Given the description of an element on the screen output the (x, y) to click on. 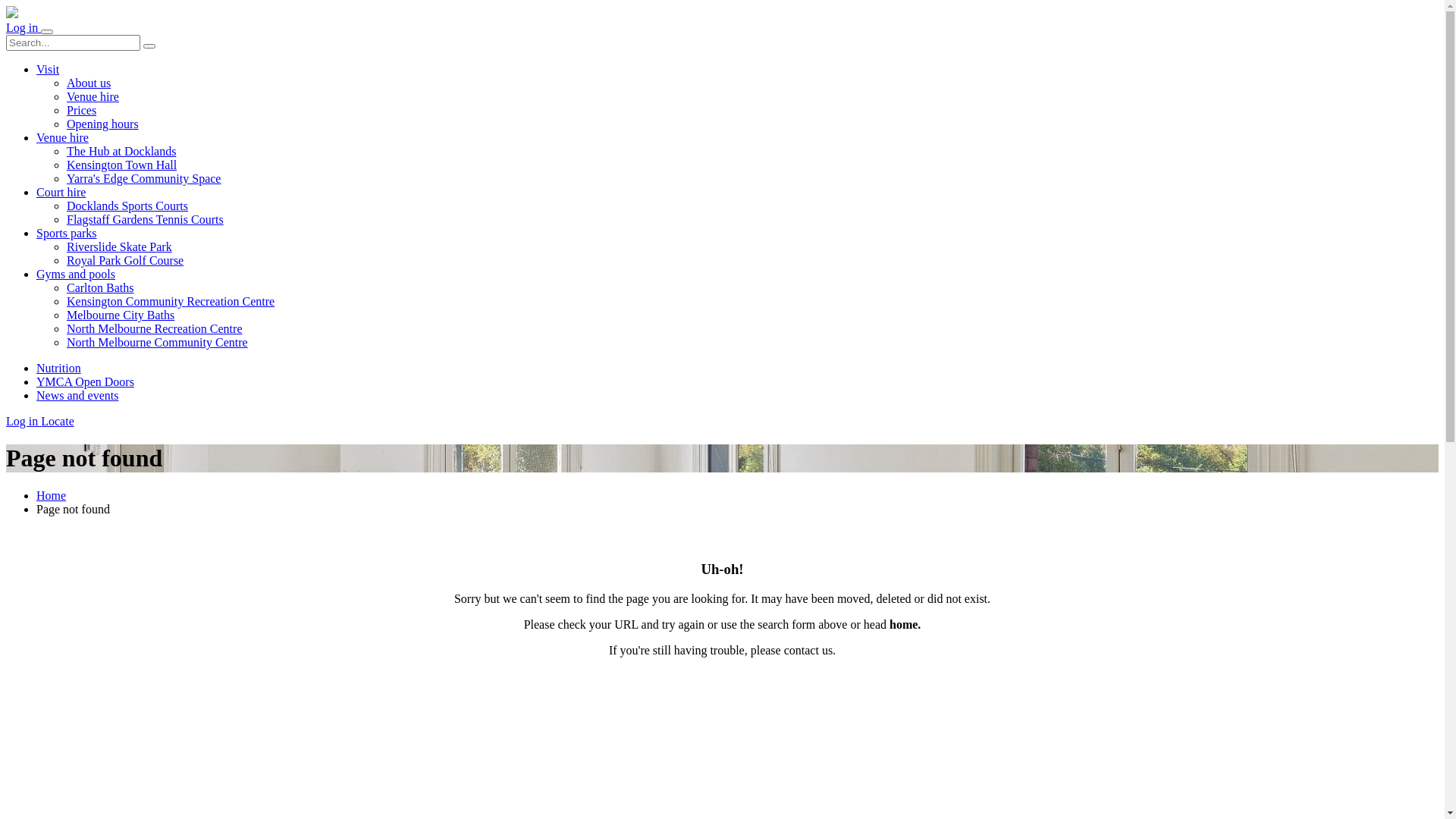
Riverslide Skate Park Element type: text (119, 246)
Opening hours Element type: text (102, 123)
North Melbourne Recreation Centre Element type: text (153, 328)
Venue hire Element type: text (92, 96)
North Melbourne Community Centre Element type: text (156, 341)
Royal Park Golf Course Element type: text (124, 260)
Prices Element type: text (81, 109)
The Hub at Docklands Element type: text (120, 150)
Home Element type: text (50, 495)
Visit Element type: text (737, 69)
Docklands Sports Courts Element type: text (127, 205)
YMCA Open Doors Element type: text (85, 381)
Log in Element type: text (23, 27)
Melbourne City Baths Element type: text (120, 314)
Locate Element type: text (57, 420)
Court hire Element type: text (737, 192)
Yarra's Edge Community Space Element type: text (143, 178)
Nutrition Element type: text (58, 367)
Sports parks Element type: text (737, 233)
Venue hire Element type: text (737, 137)
Kensington Town Hall Element type: text (121, 164)
About us Element type: text (88, 82)
Flagstaff Gardens Tennis Courts Element type: text (144, 219)
Gyms and pools Element type: text (737, 274)
News and events Element type: text (77, 395)
Log in Element type: text (23, 420)
Carlton Baths Element type: text (99, 287)
Kensington Community Recreation Centre Element type: text (170, 300)
